Given the description of an element on the screen output the (x, y) to click on. 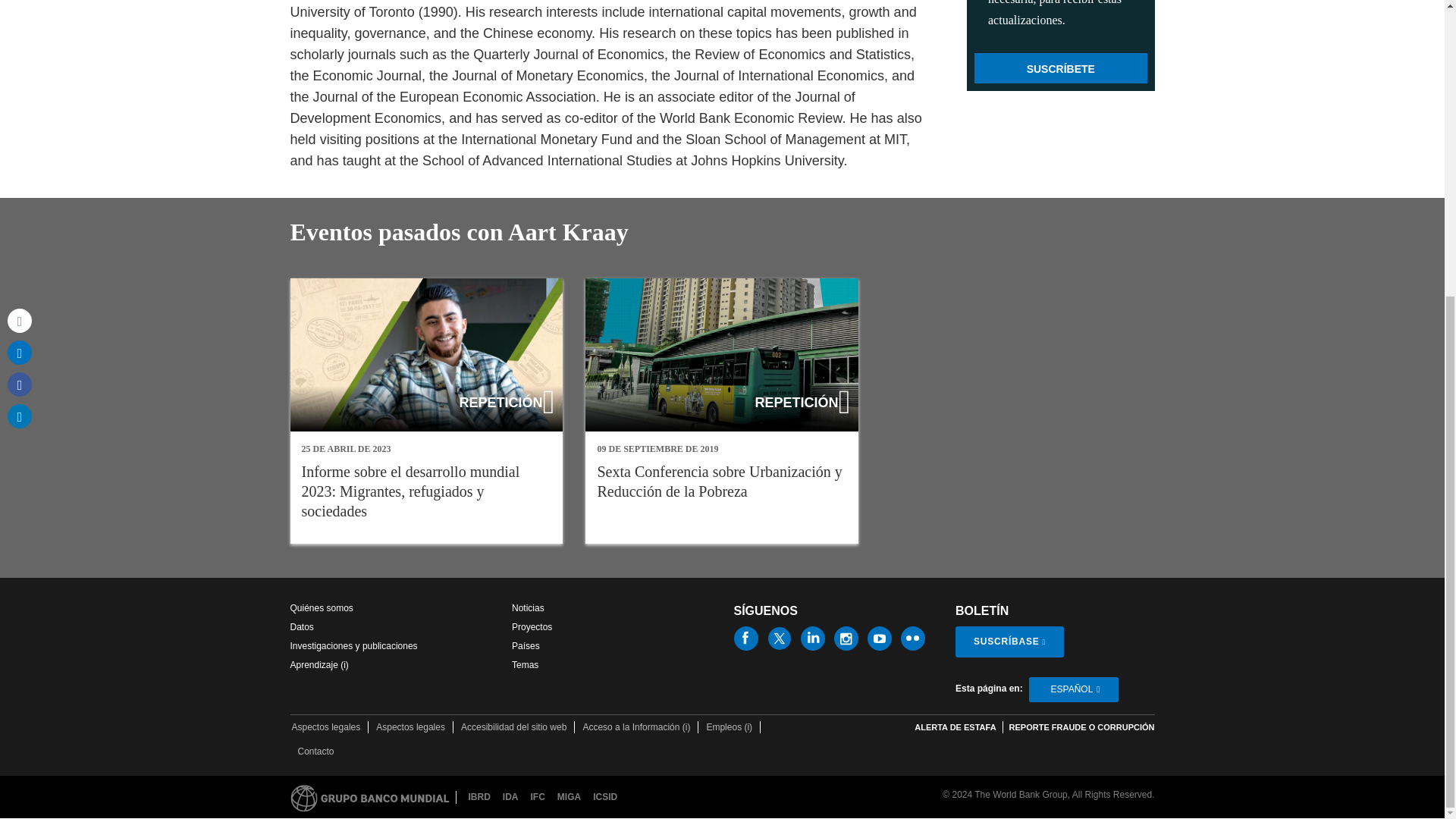
Noticias (528, 607)
Proyectos (531, 626)
Investigaciones y publicaciones (352, 645)
Datos (301, 626)
